Given the description of an element on the screen output the (x, y) to click on. 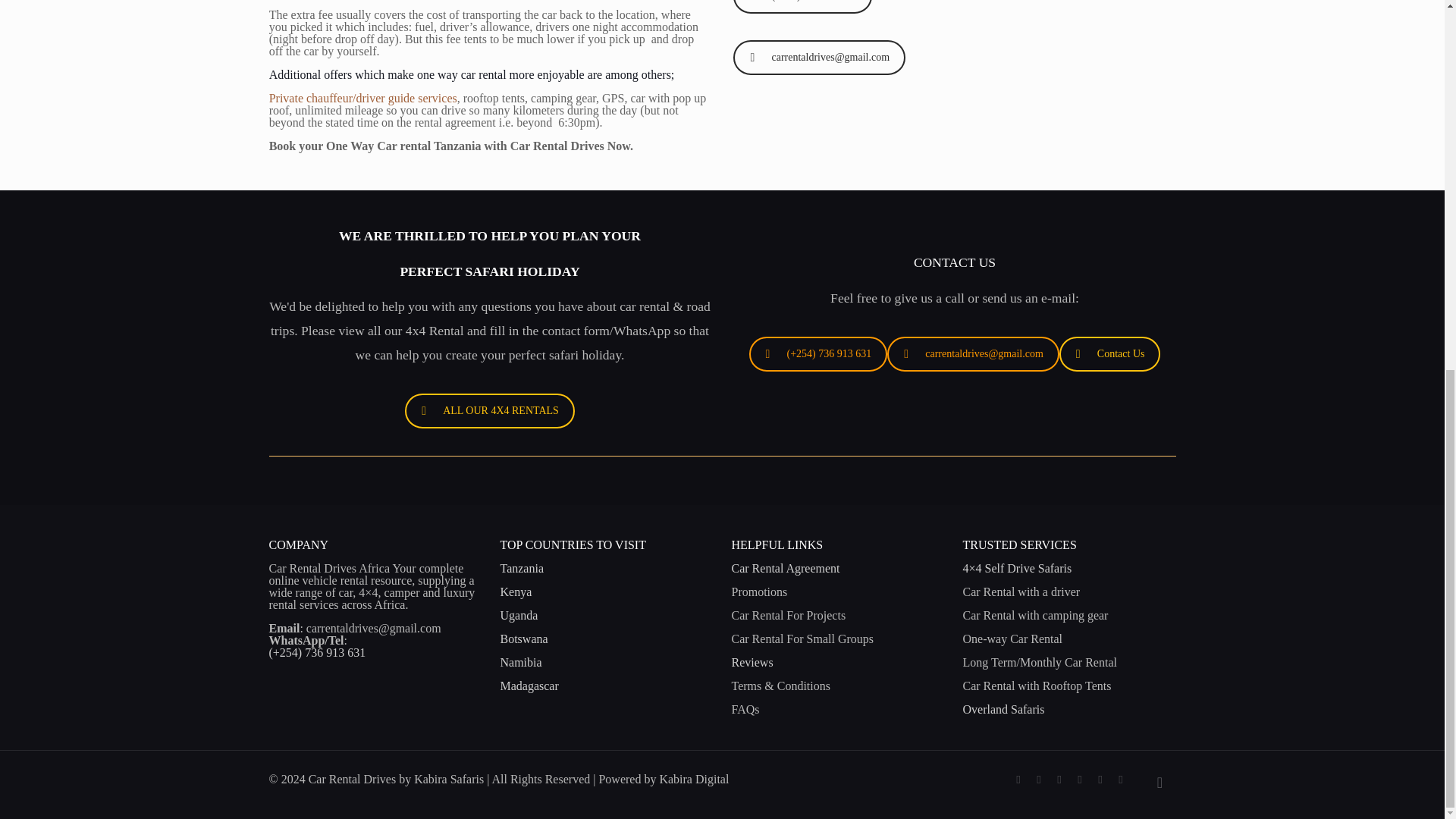
ALL OUR 4X4 RENTALS (489, 410)
Contact Us (1109, 353)
